Given the description of an element on the screen output the (x, y) to click on. 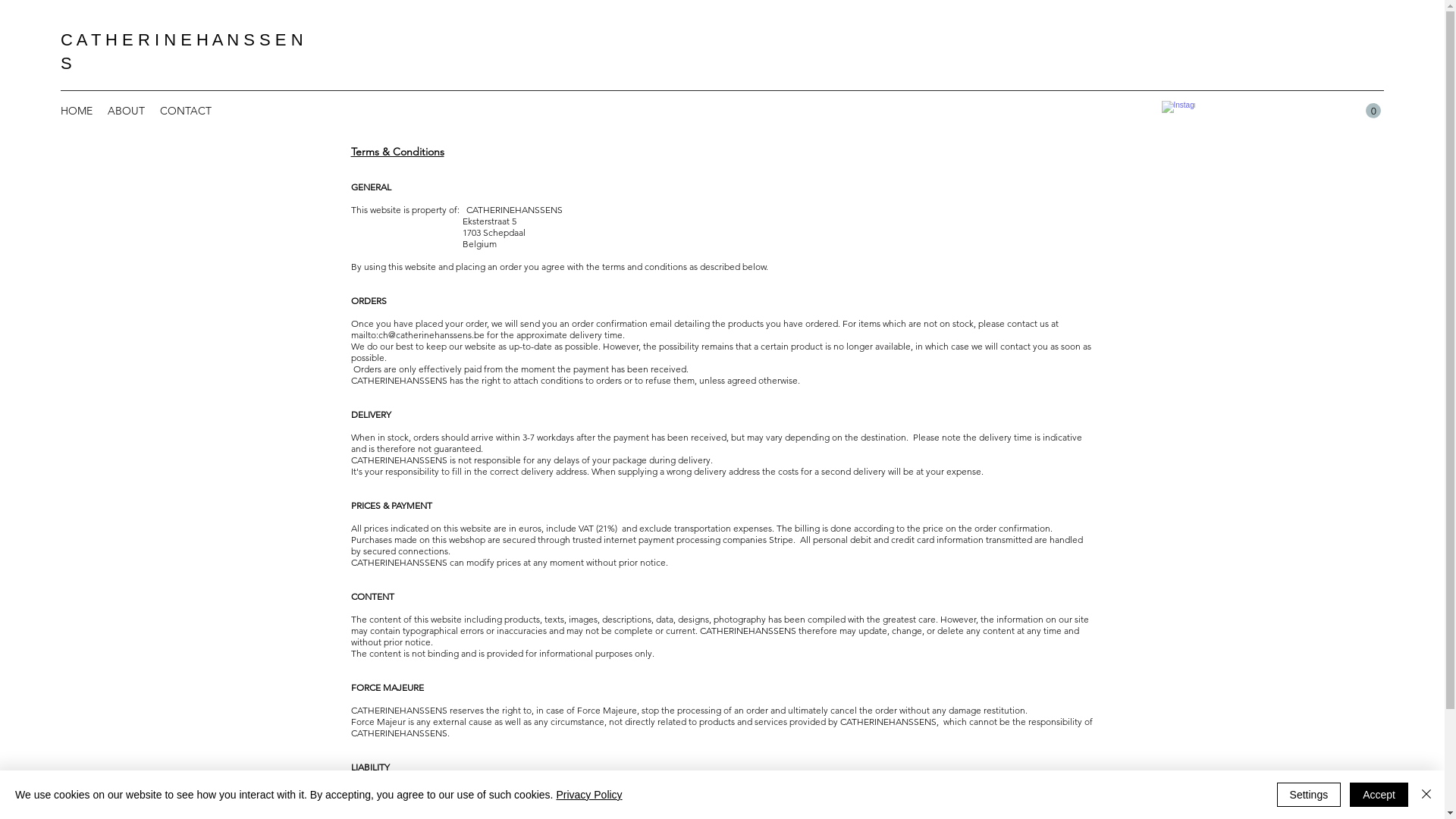
Privacy Policy Element type: text (588, 794)
HOME Element type: text (76, 110)
0 Element type: text (1372, 110)
ch@catherinehanssens.be Element type: text (430, 334)
Accept Element type: text (1378, 794)
ABOUT Element type: text (126, 110)
Settings Element type: text (1309, 794)
C A T H E R I N E H A N S S E N S Element type: text (181, 51)
CONTACT Element type: text (185, 110)
